Given the description of an element on the screen output the (x, y) to click on. 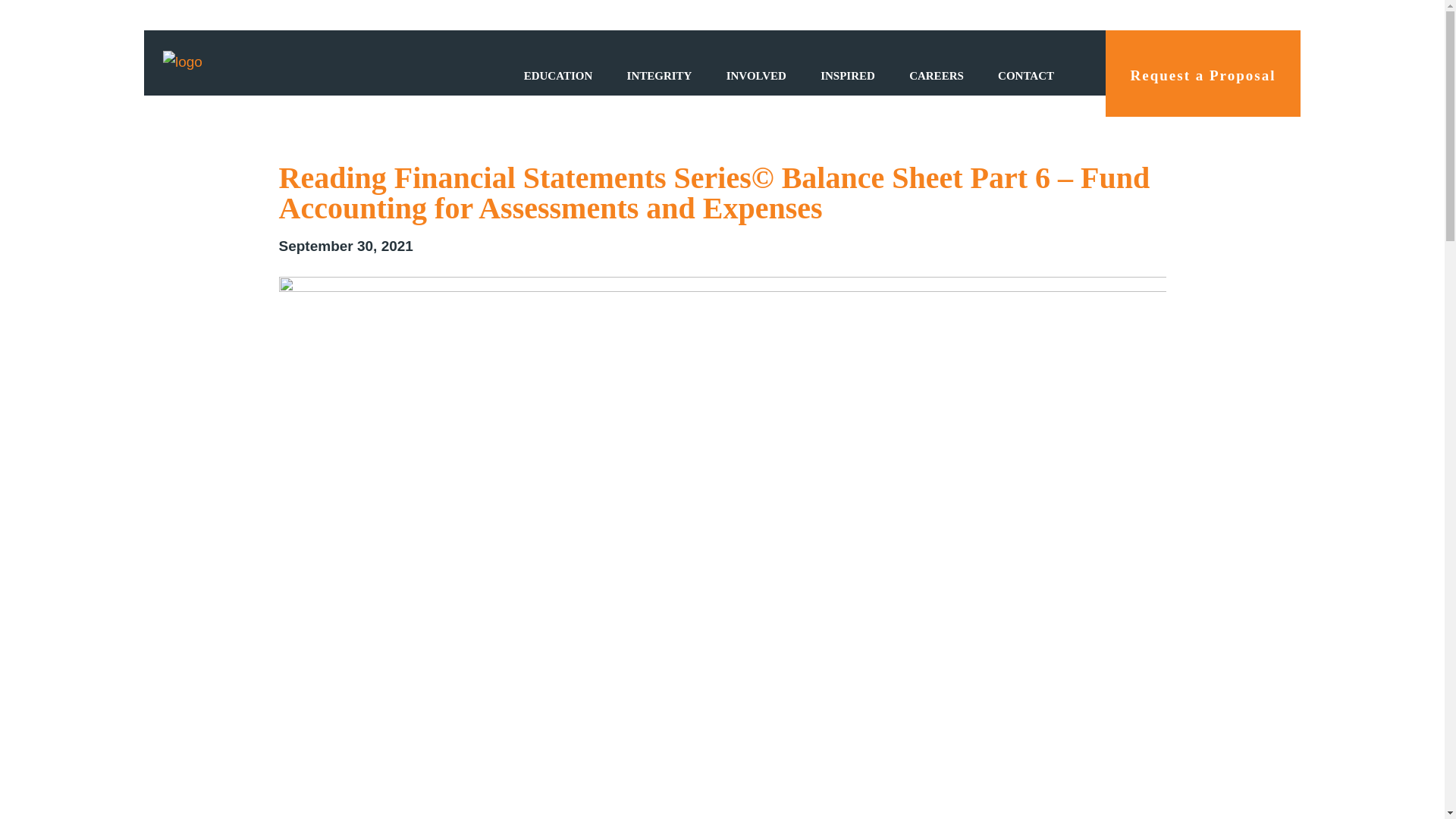
CAREERS (935, 75)
EDUCATION (558, 75)
INSPIRED (847, 75)
CONTACT (1025, 75)
INVOLVED (756, 75)
INTEGRITY (659, 75)
Request a Proposal (1202, 73)
